Given the description of an element on the screen output the (x, y) to click on. 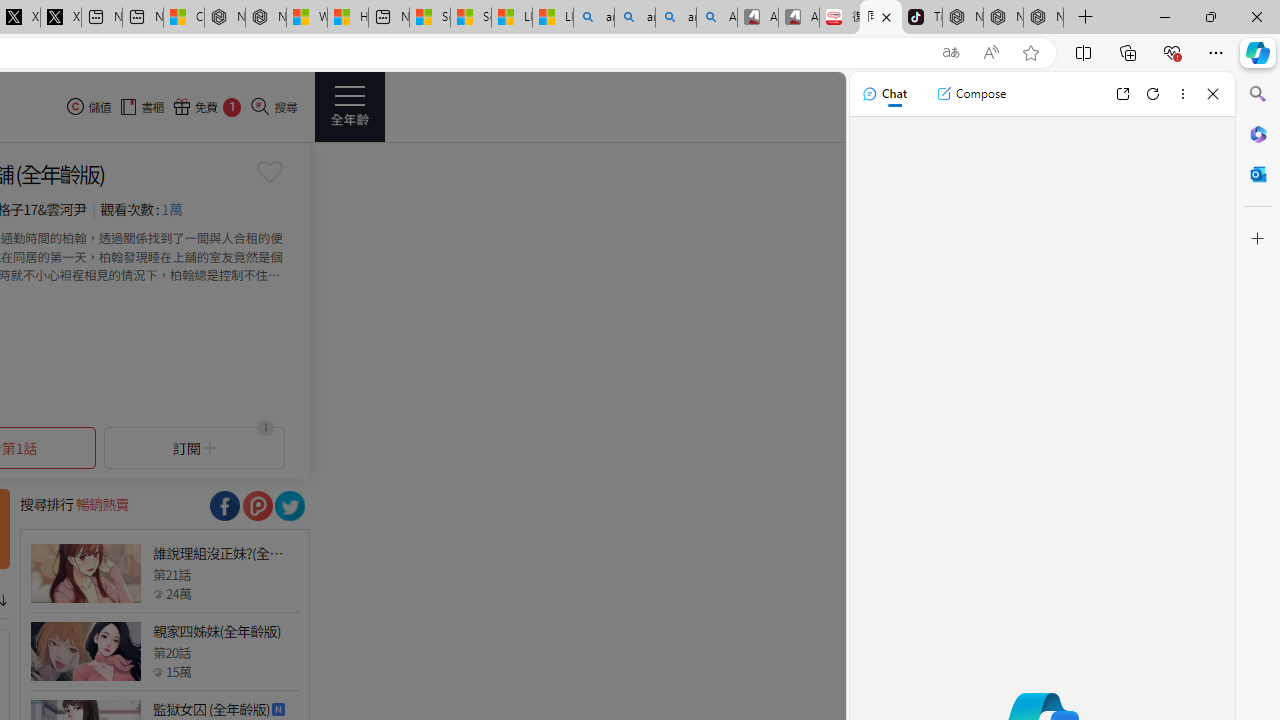
amazon - Search Images (675, 17)
Amazon Echo Robot - Search Images (717, 17)
